Given the description of an element on the screen output the (x, y) to click on. 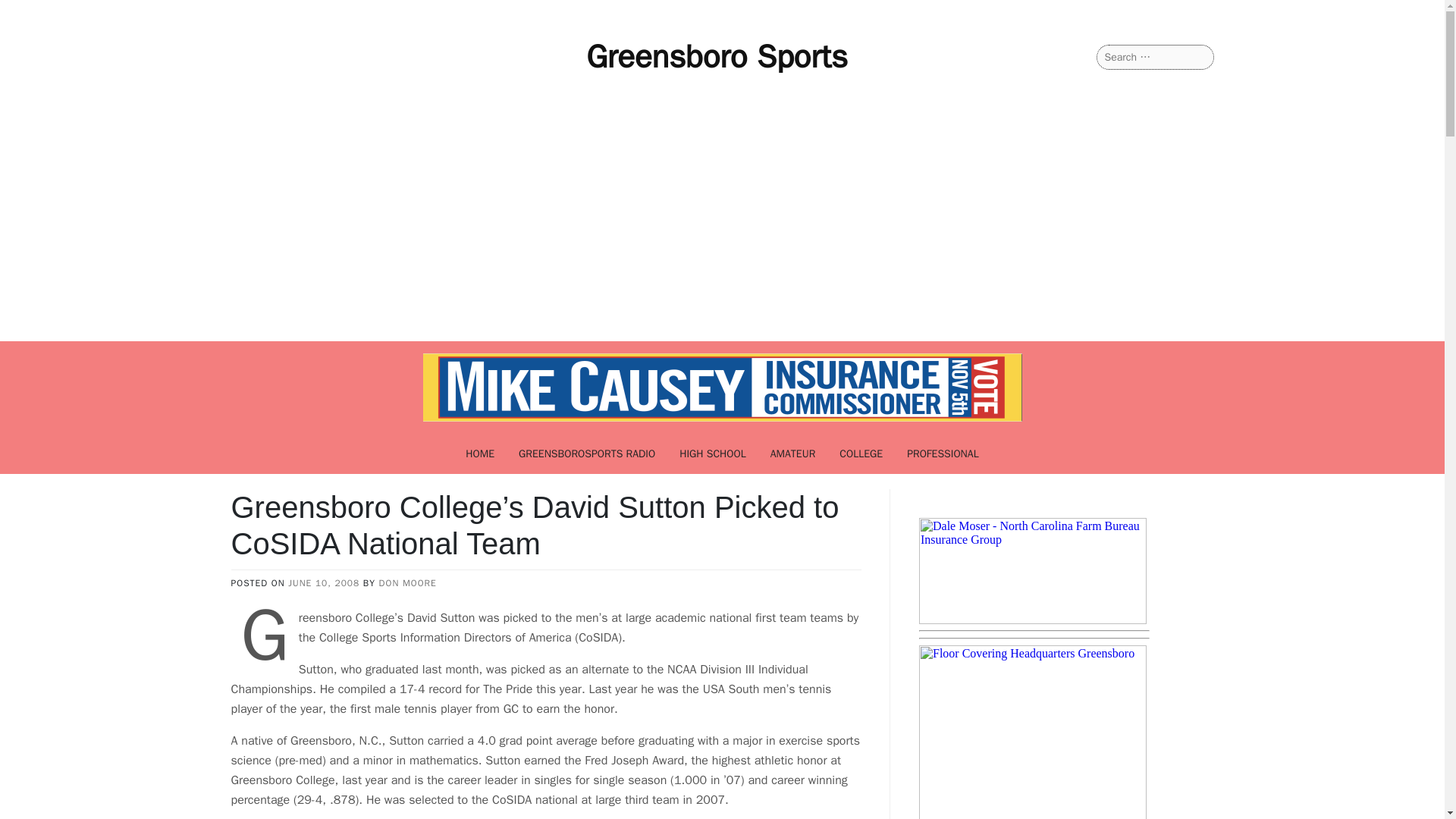
Greensboro Sports (716, 56)
HOME (479, 454)
PROFESSIONAL (943, 454)
Search (31, 12)
GREENSBOROSPORTS RADIO (586, 454)
JUNE 10, 2008 (323, 582)
COLLEGE (861, 454)
Search (30, 12)
HIGH SCHOOL (712, 454)
DON MOORE (407, 582)
